Given the description of an element on the screen output the (x, y) to click on. 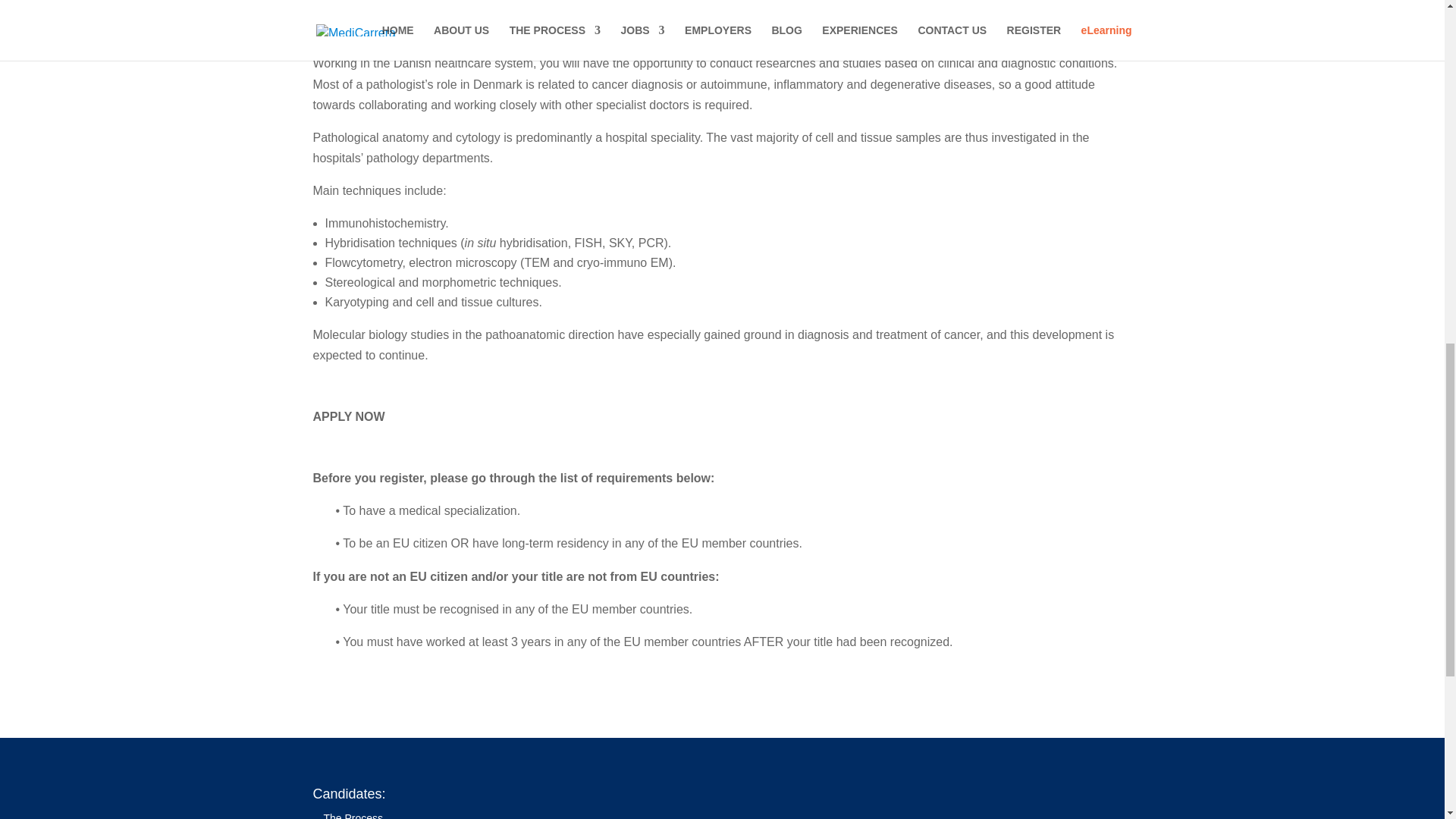
The Process (352, 815)
